Given the description of an element on the screen output the (x, y) to click on. 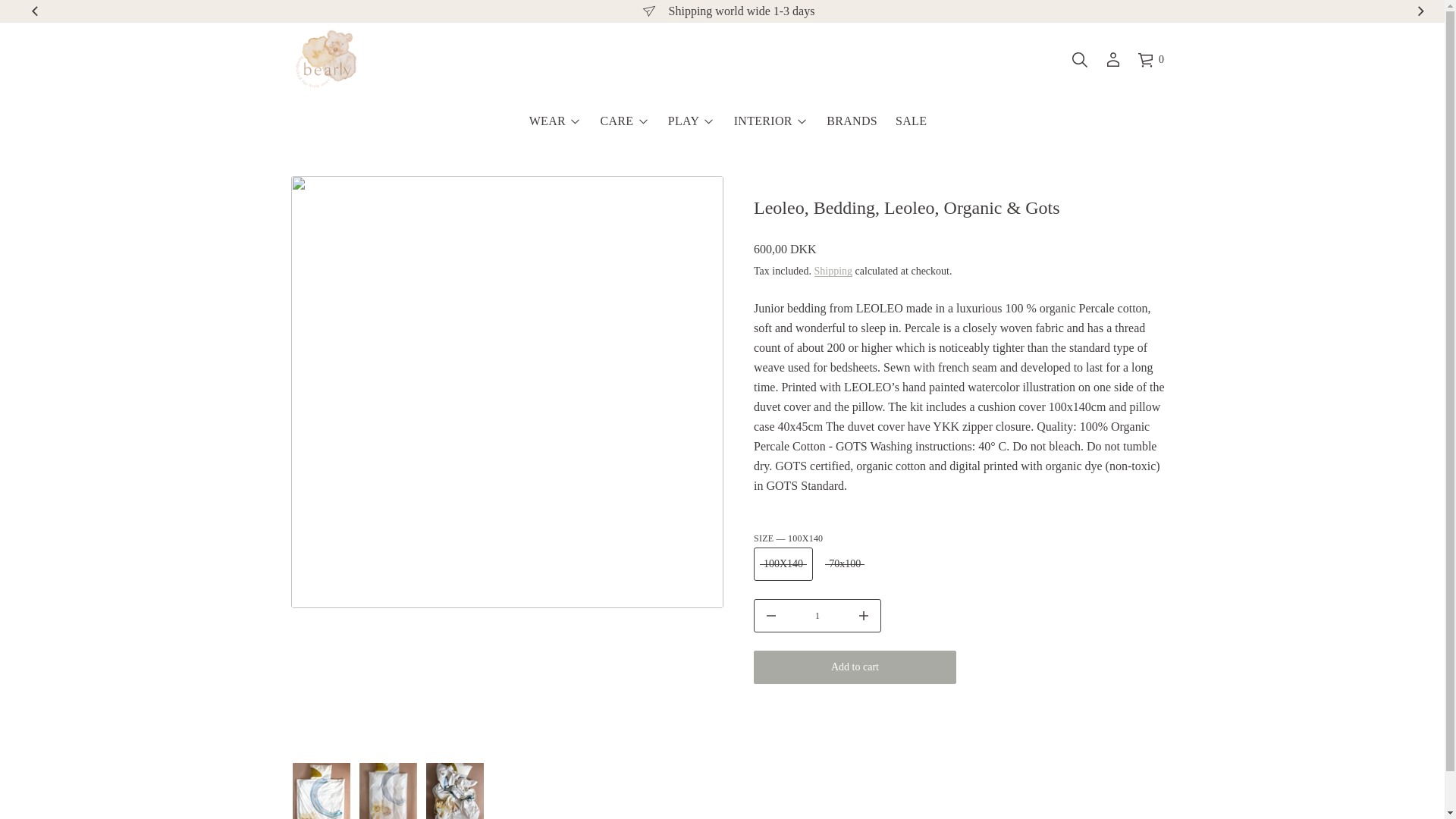
0 (1150, 59)
1 (817, 614)
WEAR (547, 120)
